Given the description of an element on the screen output the (x, y) to click on. 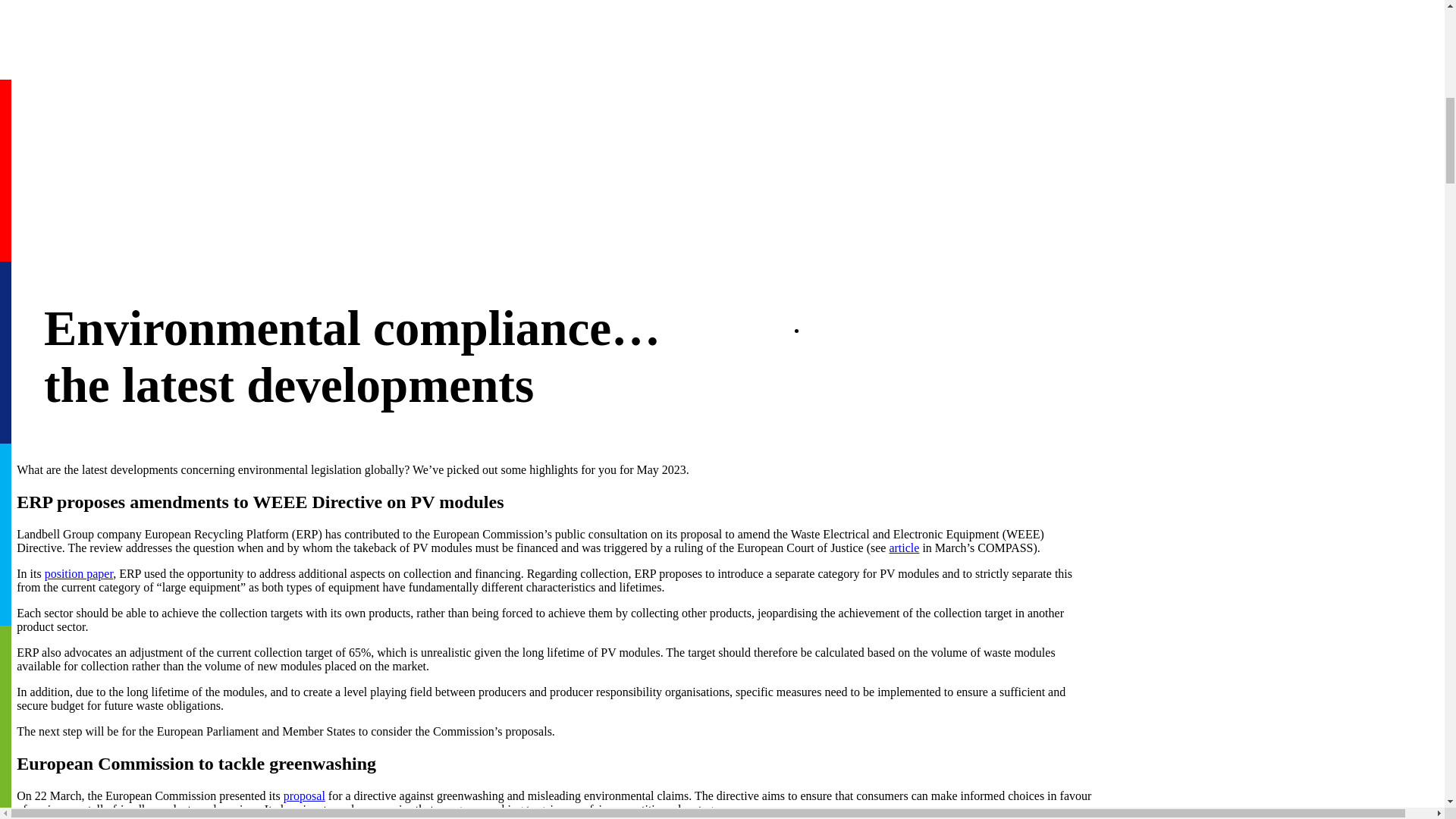
proposal (303, 796)
position paper (79, 574)
article (903, 548)
